Given the description of an element on the screen output the (x, y) to click on. 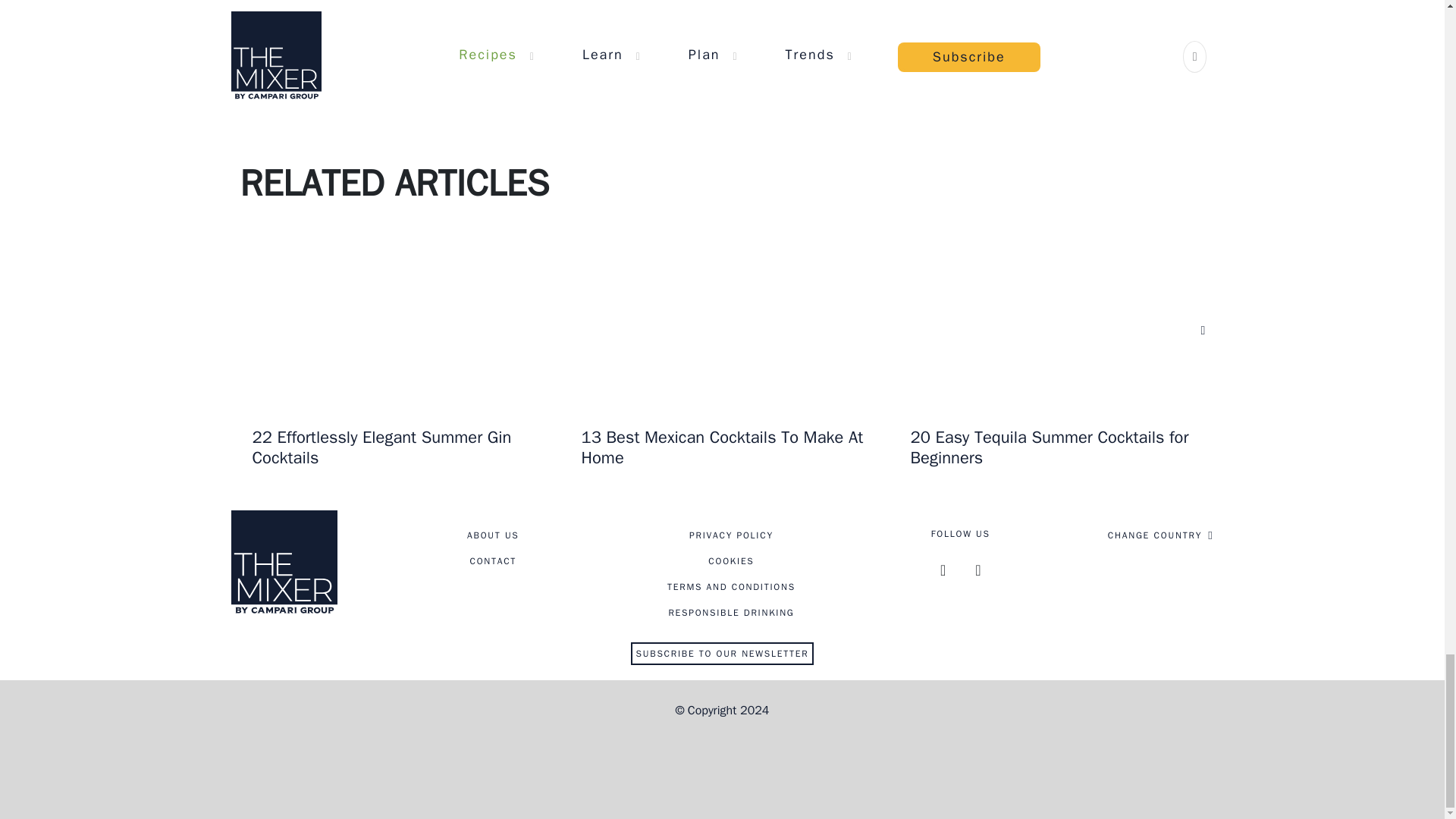
Campari Group - Link opens on a new tab (721, 758)
